Given the description of an element on the screen output the (x, y) to click on. 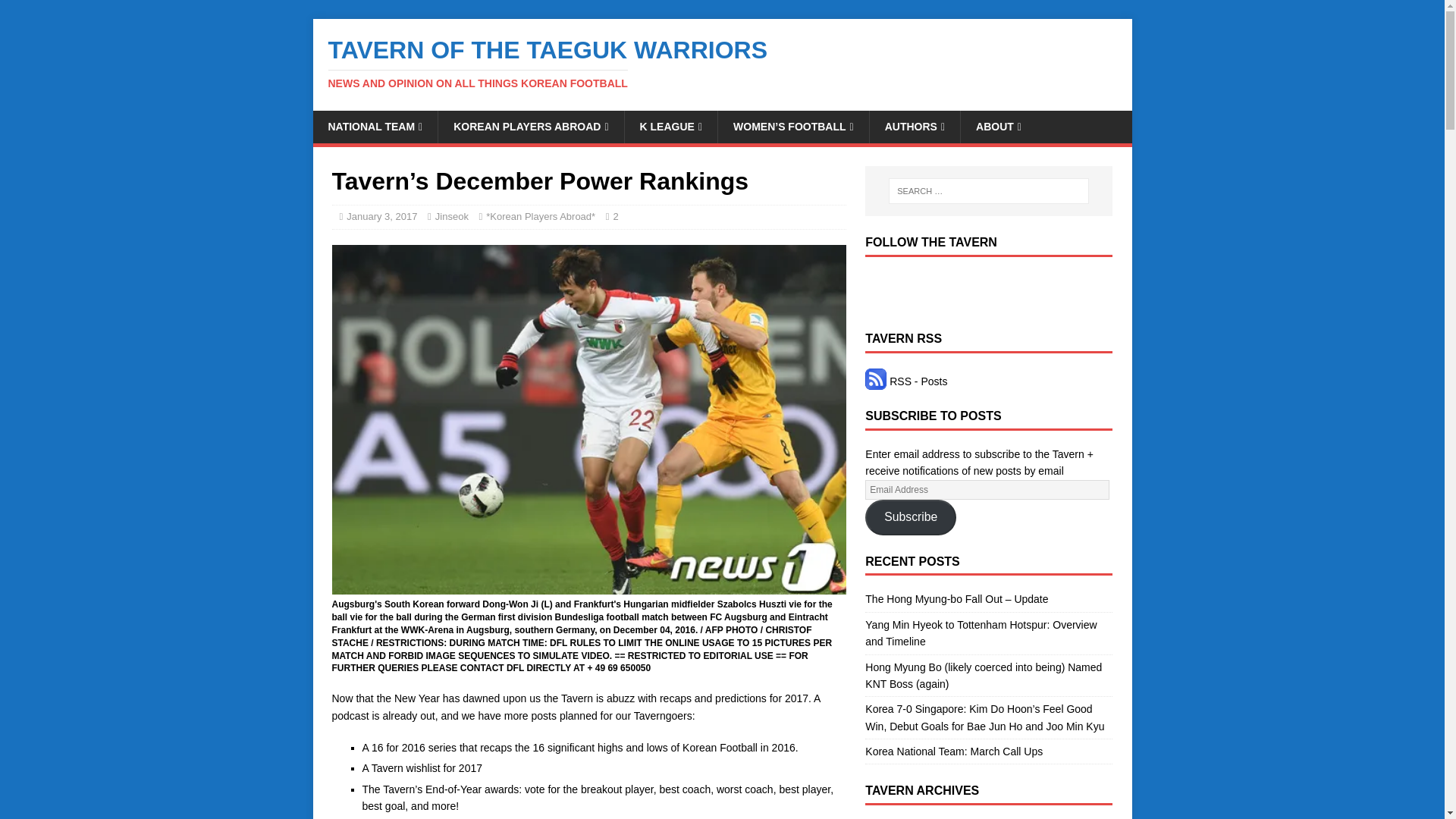
Tavern of the Taeguk Warriors (721, 63)
K LEAGUE (670, 126)
Subscribe to posts (905, 381)
ABOUT (997, 126)
January 3, 2017 (381, 215)
Jinseok (451, 215)
KOREAN PLAYERS ABROAD (530, 126)
NATIONAL TEAM (375, 126)
